Given the description of an element on the screen output the (x, y) to click on. 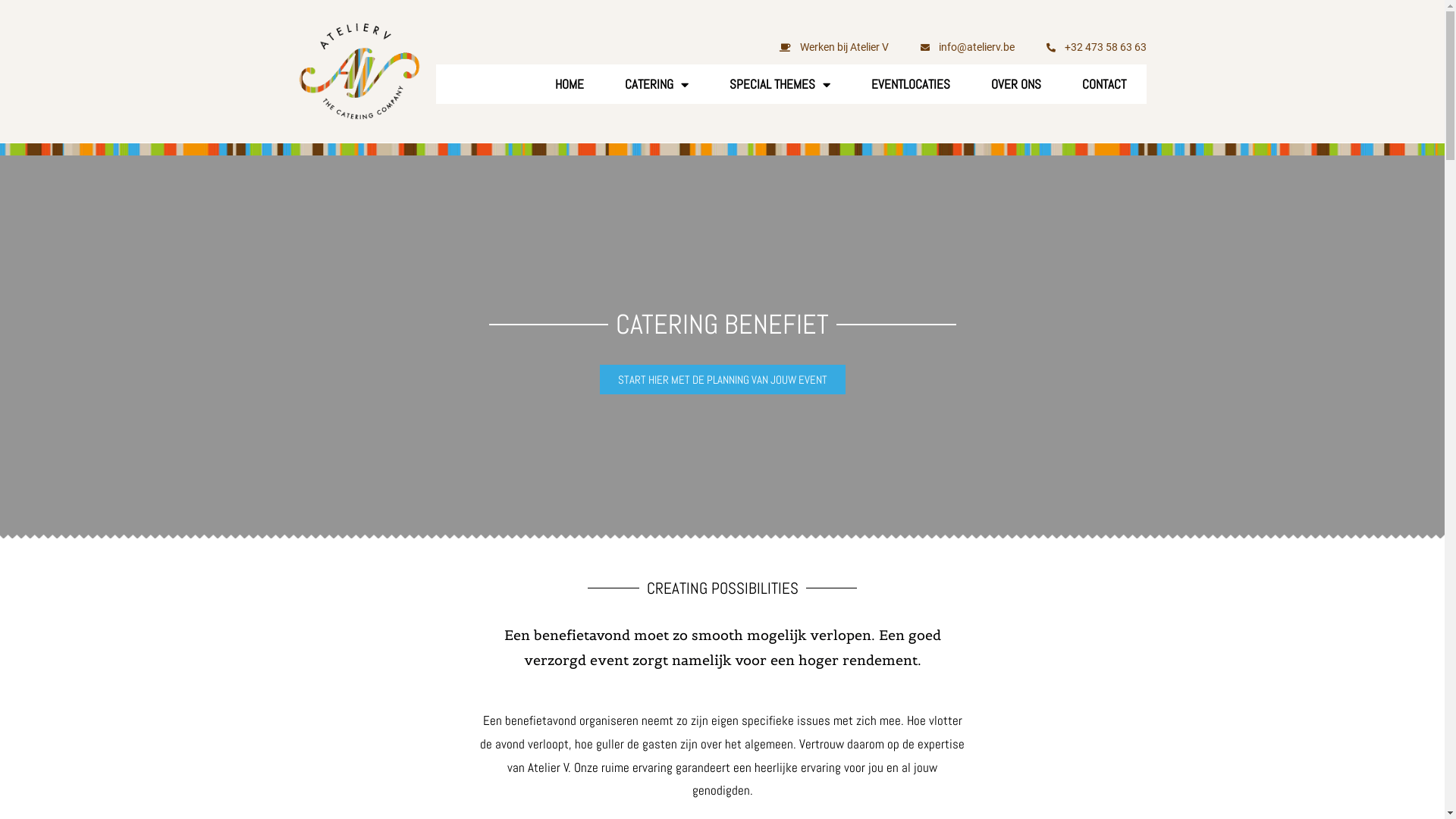
CATERING Element type: text (656, 84)
EVENTLOCATIES Element type: text (910, 84)
START HIER MET DE PLANNING VAN JOUW EVENT Element type: text (721, 379)
OVER ONS Element type: text (1015, 84)
Werken bij Atelier V Element type: text (833, 46)
SPECIAL THEMES Element type: text (779, 84)
info@atelierv.be Element type: text (966, 46)
HOME Element type: text (569, 84)
+32 473 58 63 63 Element type: text (1095, 46)
CONTACT Element type: text (1103, 84)
